Given the description of an element on the screen output the (x, y) to click on. 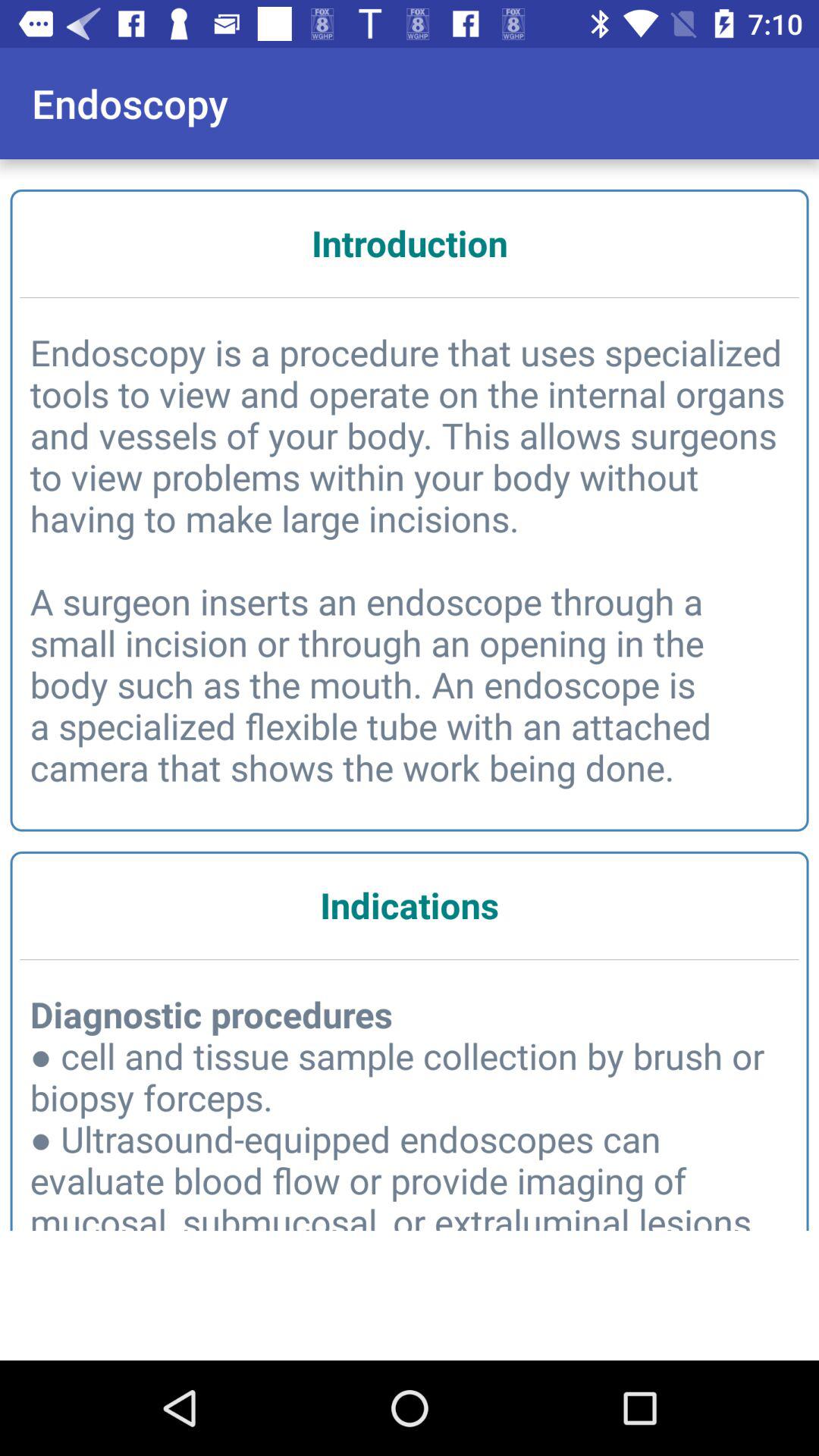
click endoscopy is a icon (409, 559)
